Given the description of an element on the screen output the (x, y) to click on. 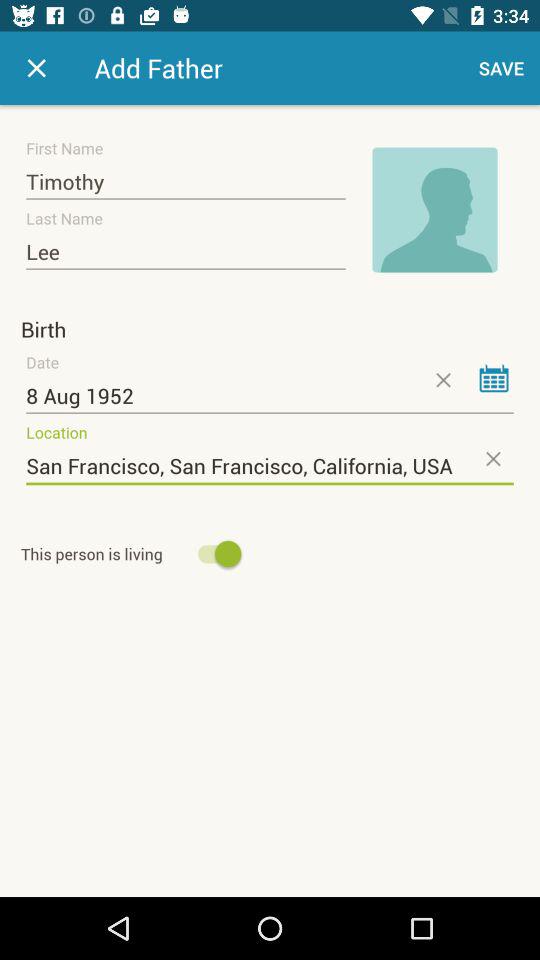
delete (442, 380)
